Given the description of an element on the screen output the (x, y) to click on. 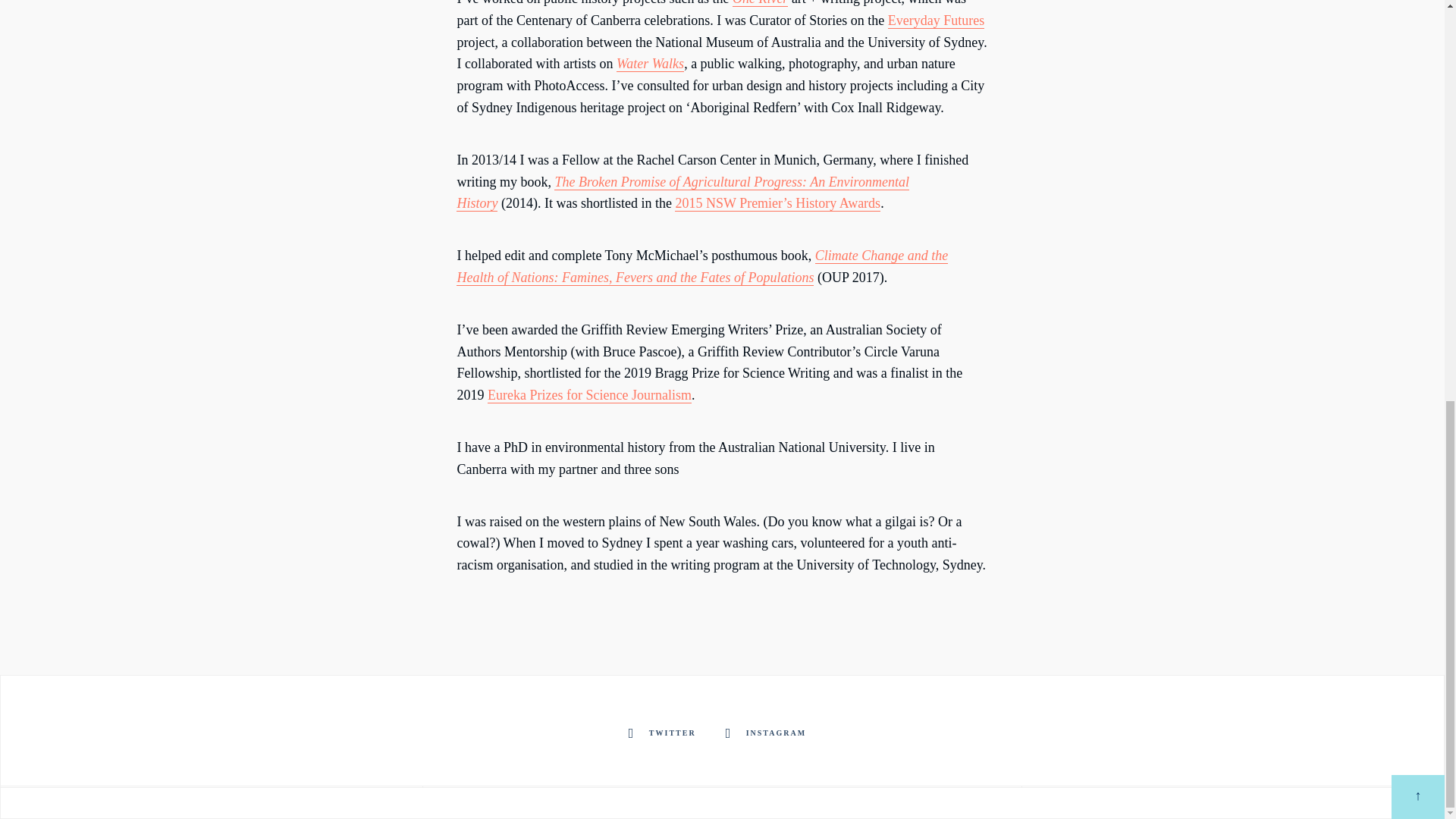
Water Walks (649, 64)
Eureka Prizes for Science Journalism (589, 395)
Twitter (664, 733)
Instagram (768, 733)
Everyday Futures (936, 20)
TWITTER (664, 733)
One River (759, 3)
INSTAGRAM (768, 733)
